Given the description of an element on the screen output the (x, y) to click on. 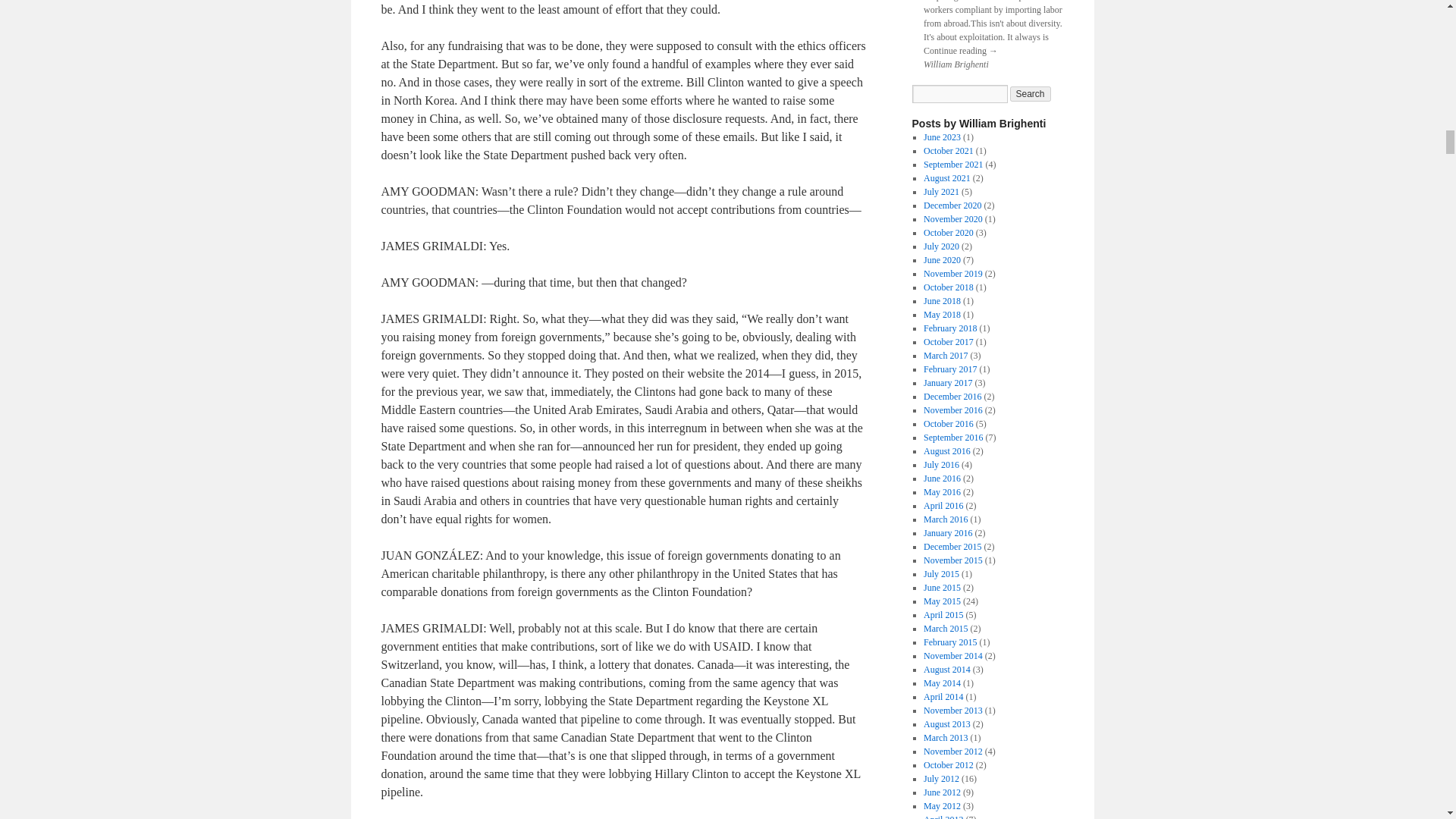
Search (1030, 93)
